Given the description of an element on the screen output the (x, y) to click on. 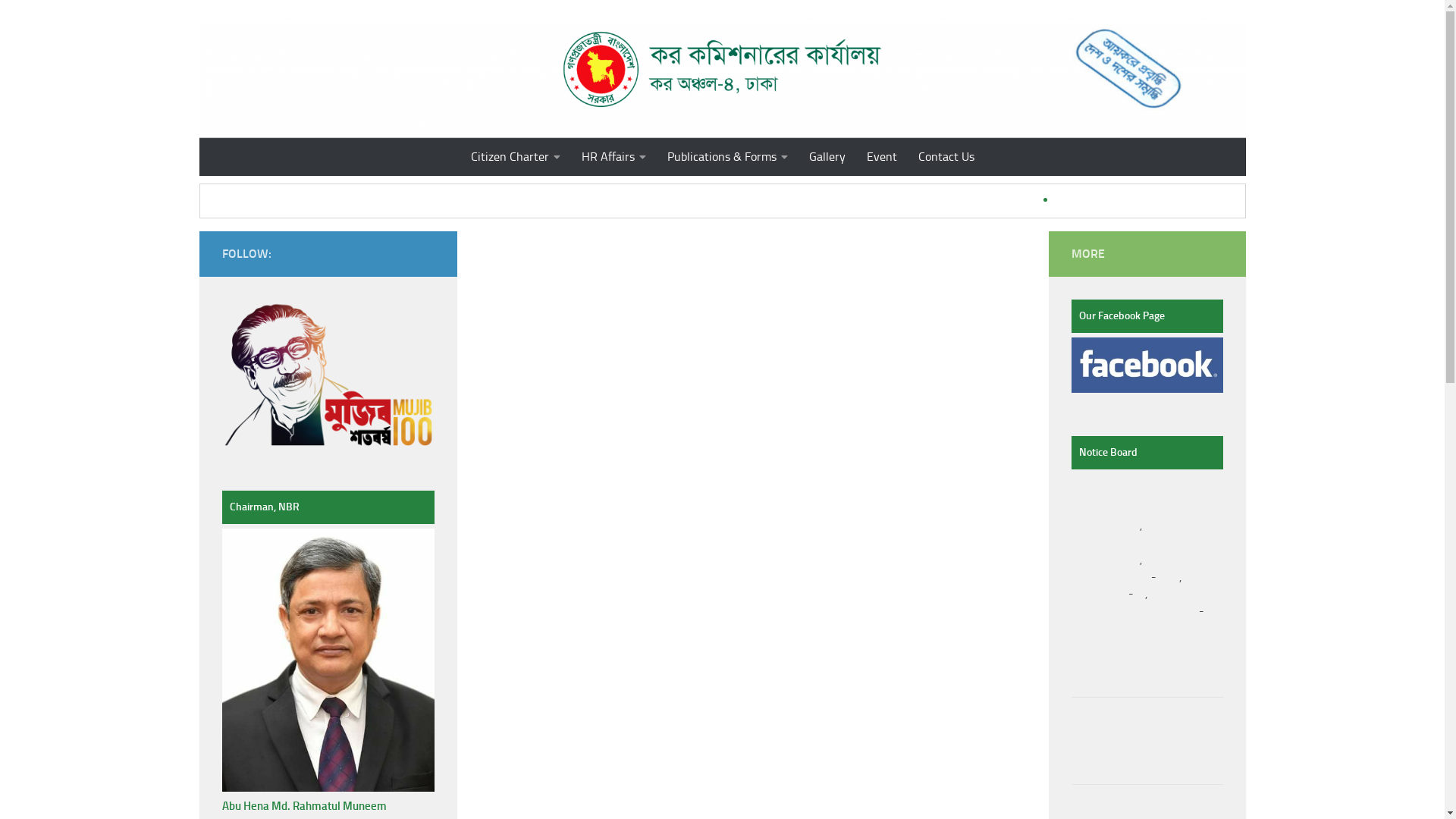
HR Affairs Element type: text (612, 156)
Citizen Charter Element type: text (514, 156)
Publications & Forms Element type: text (727, 156)
Event Element type: text (880, 156)
Skip to content Element type: text (60, 21)
Gallery Element type: text (826, 156)
Contact Us Element type: text (945, 156)
